Given the description of an element on the screen output the (x, y) to click on. 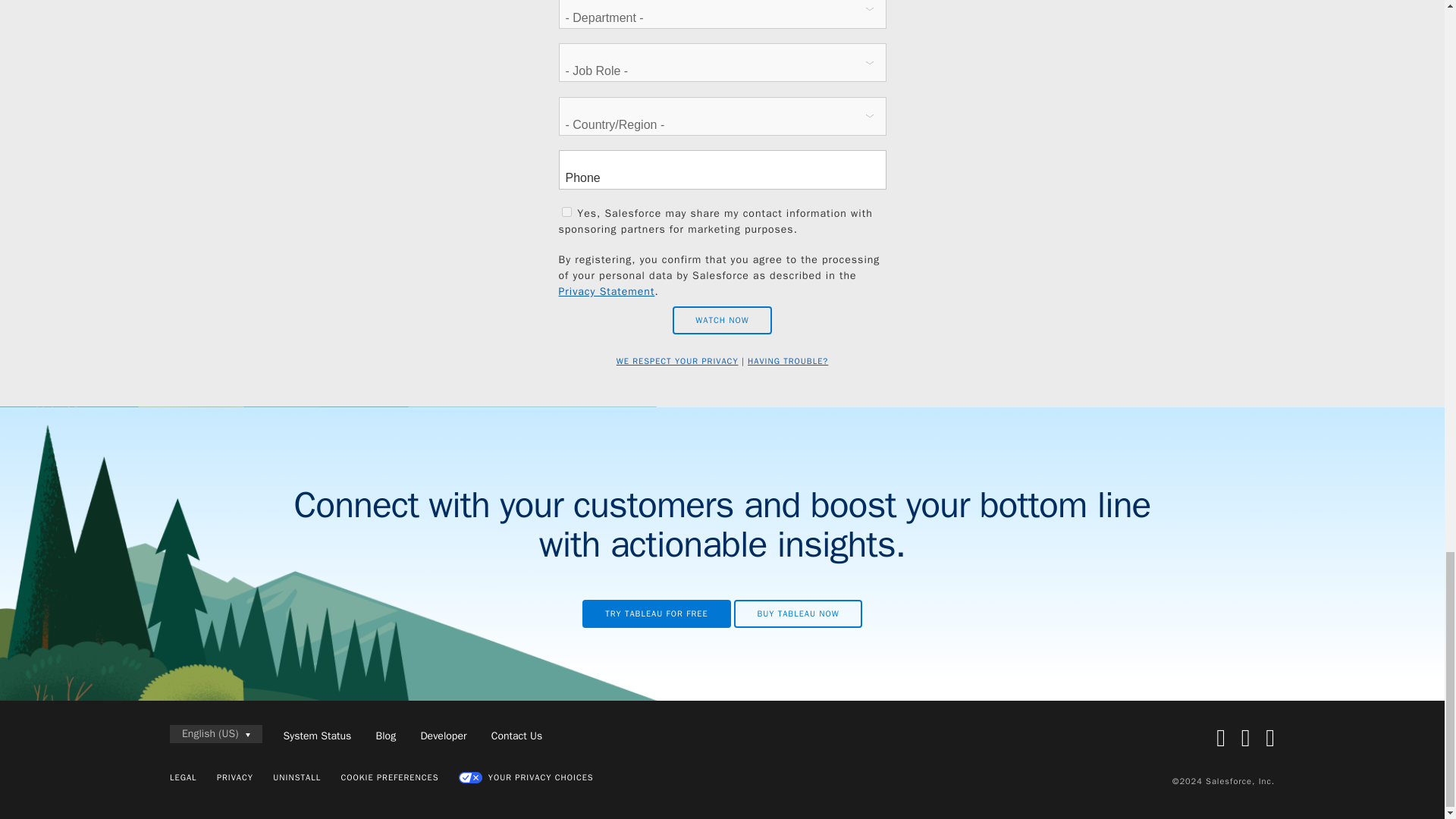
Watch now (721, 320)
1 (565, 212)
